Given the description of an element on the screen output the (x, y) to click on. 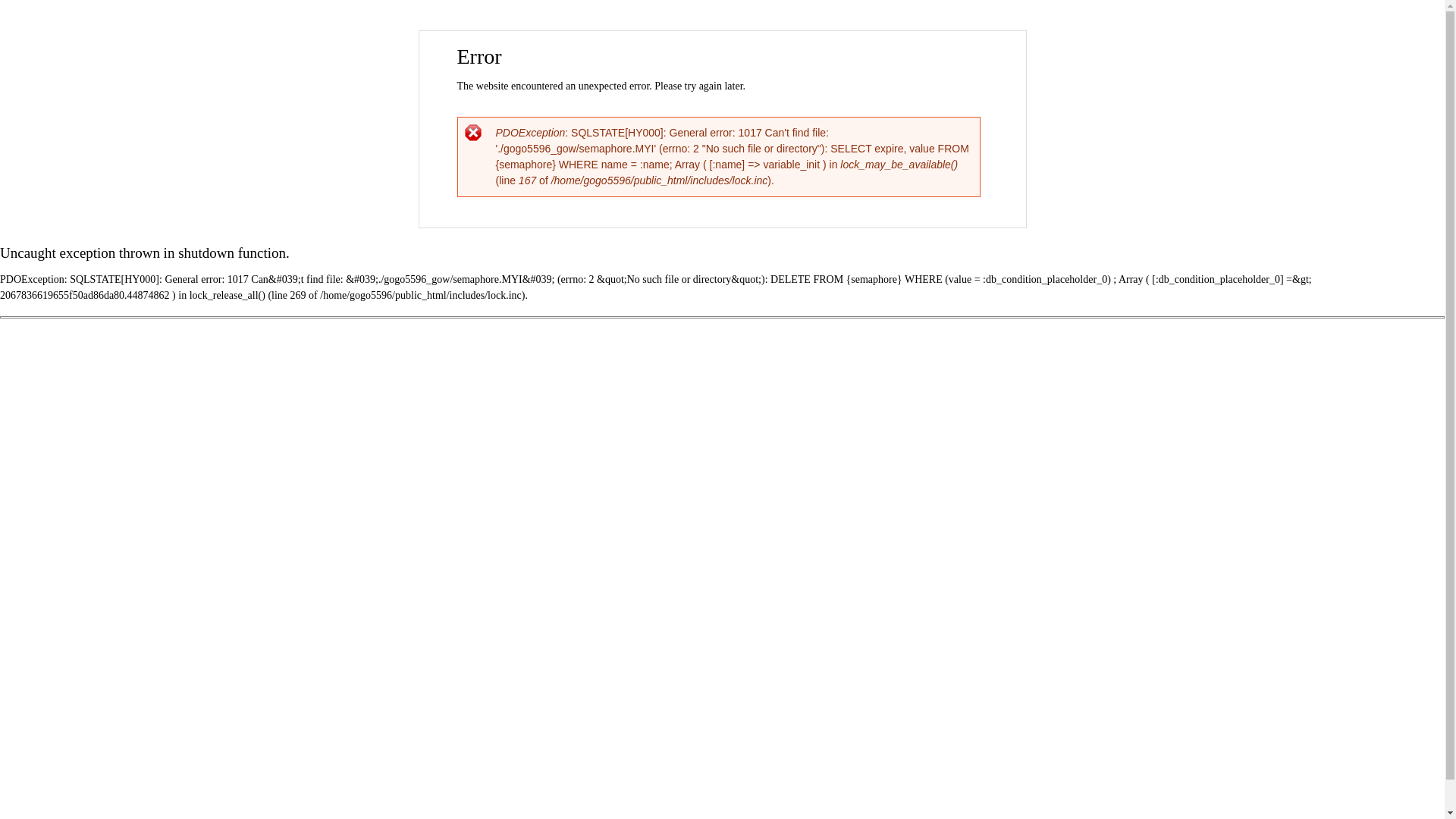
Skip to main content Element type: text (690, 31)
